Given the description of an element on the screen output the (x, y) to click on. 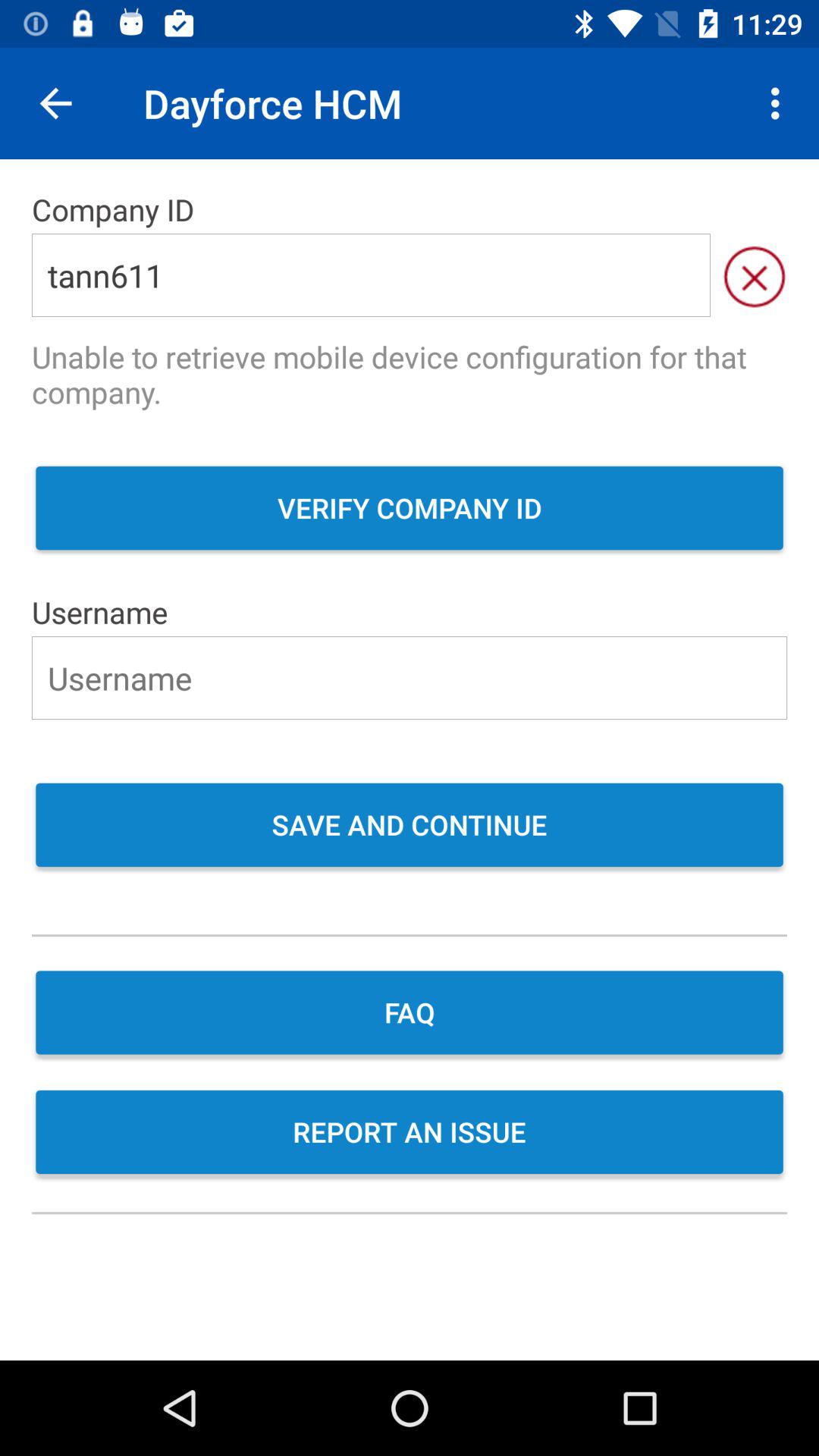
choose tann611 item (370, 274)
